Given the description of an element on the screen output the (x, y) to click on. 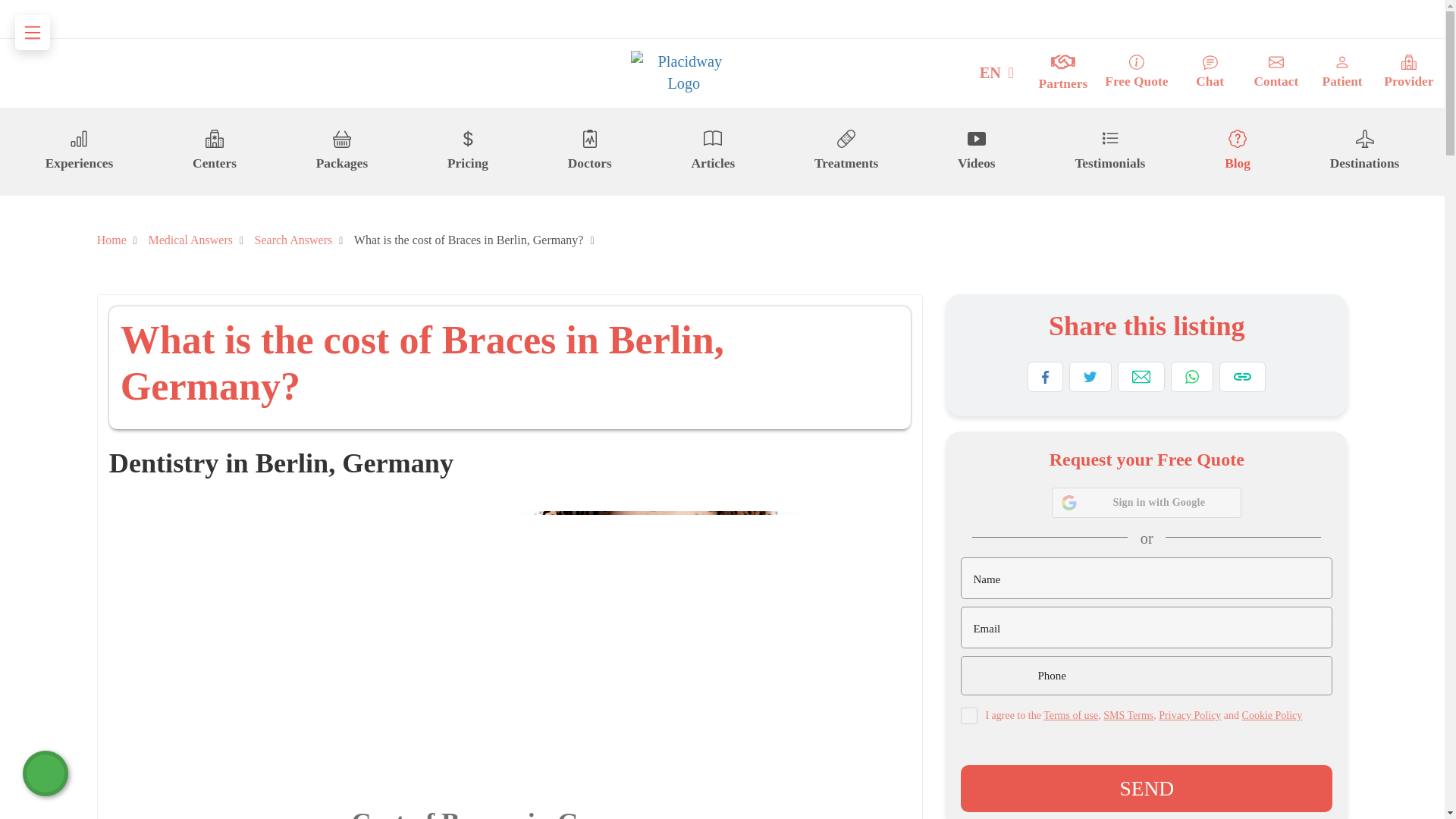
Packages (341, 151)
Contact (1275, 72)
Testimonials (1109, 151)
Doctors (589, 151)
Blog (1237, 151)
Partners (1063, 73)
Free Quote (1136, 72)
Chat (1210, 72)
Centers (213, 151)
on (968, 715)
Pricing (466, 151)
Experiences (79, 151)
Treatments (845, 151)
Videos (976, 151)
